Given the description of an element on the screen output the (x, y) to click on. 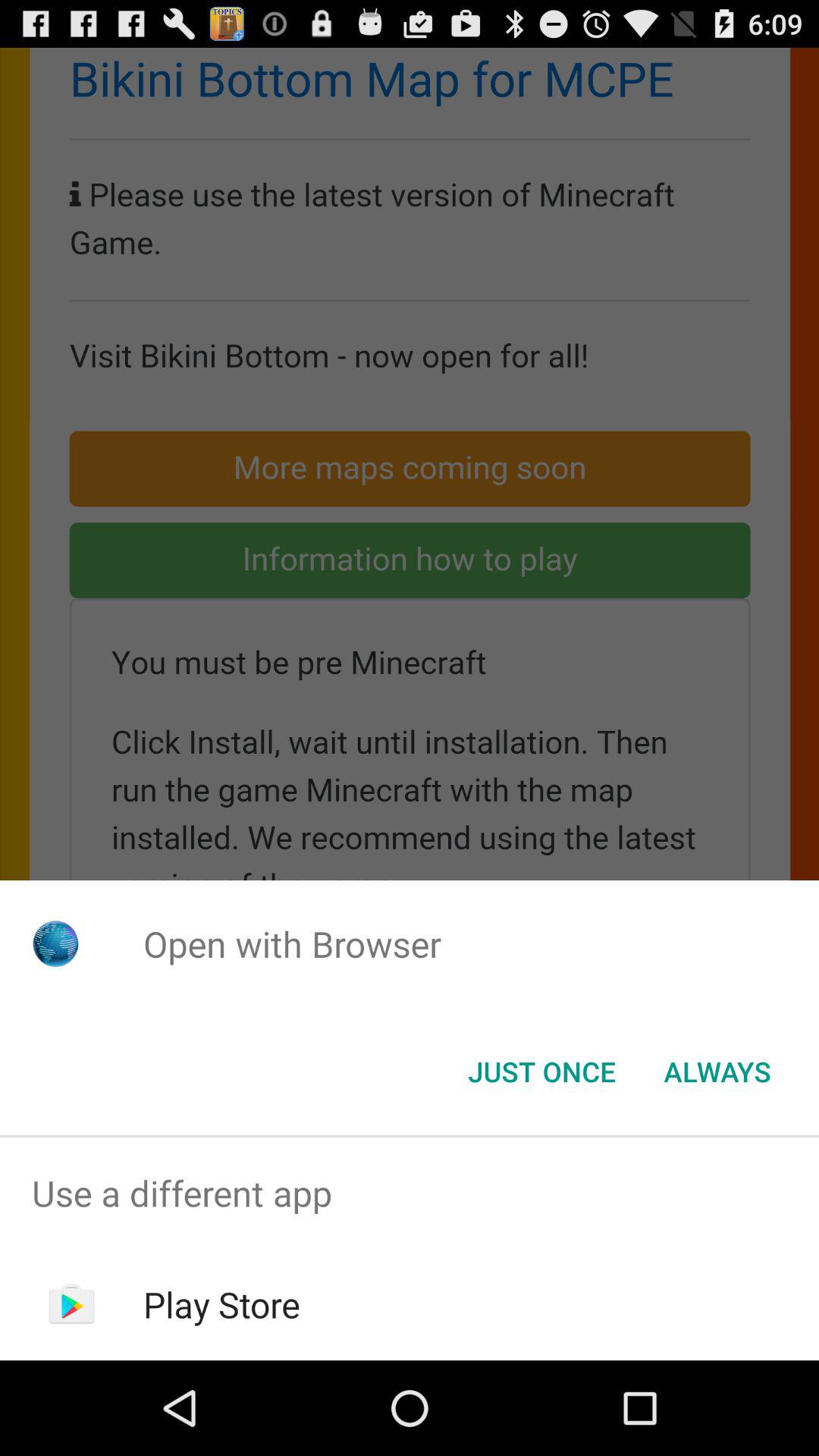
turn on always at the bottom right corner (717, 1071)
